Given the description of an element on the screen output the (x, y) to click on. 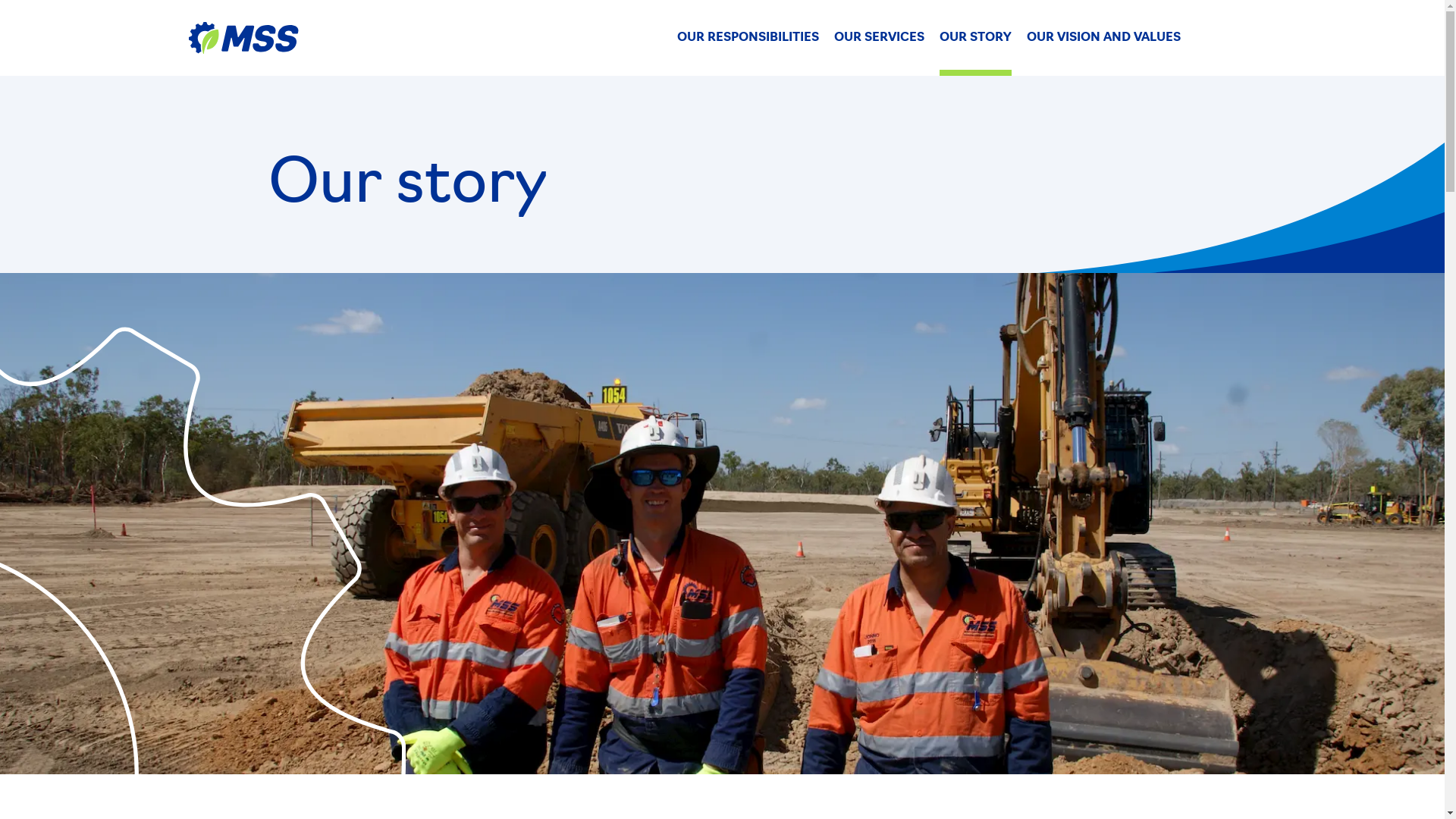
OUR VISION AND VALUES Element type: text (1103, 37)
OUR SERVICES Element type: text (879, 37)
OUR RESPONSIBILITIES Element type: text (747, 37)
OUR STORY Element type: text (974, 37)
